Given the description of an element on the screen output the (x, y) to click on. 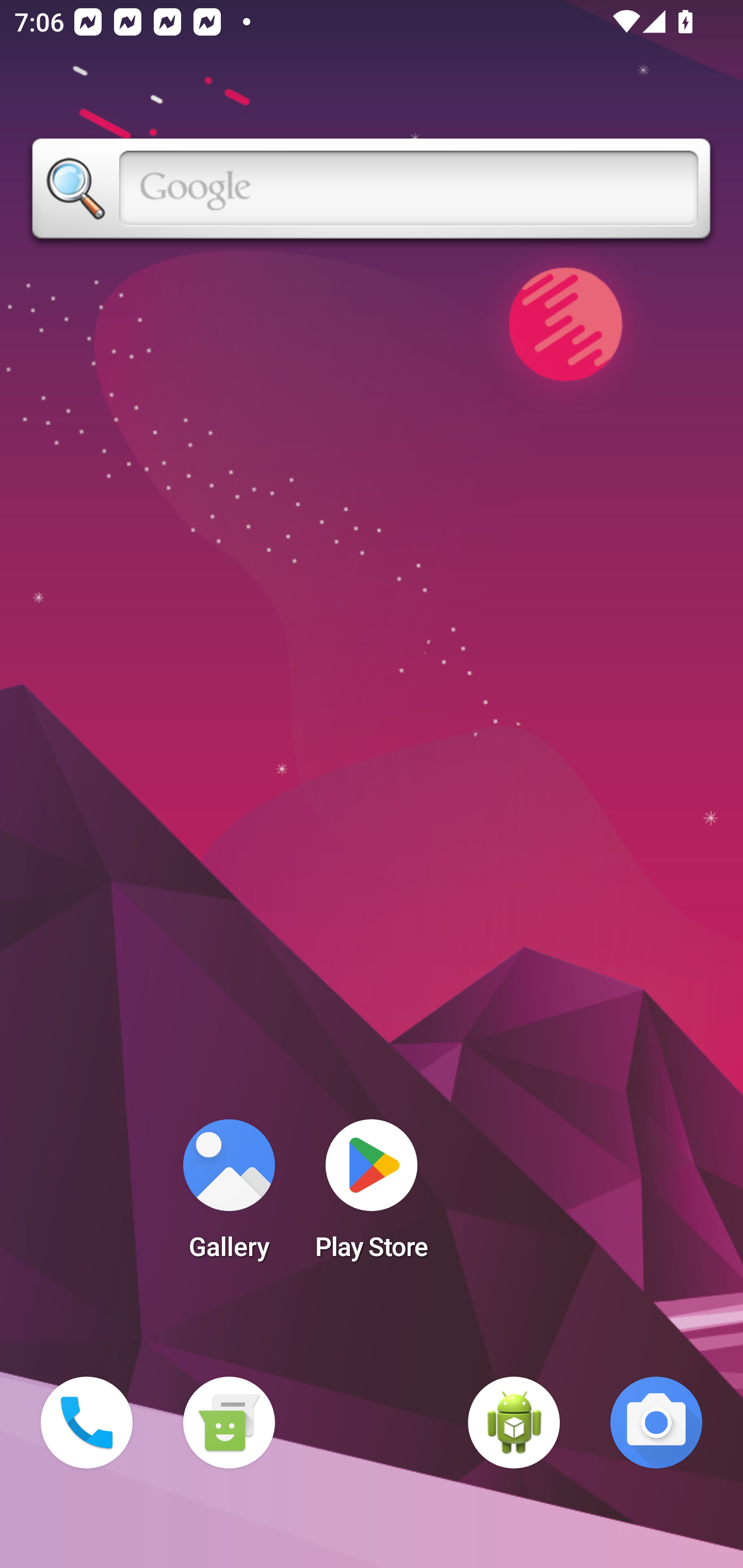
Gallery (228, 1195)
Play Store (371, 1195)
Phone (86, 1422)
Messaging (228, 1422)
WebView Browser Tester (513, 1422)
Camera (656, 1422)
